Given the description of an element on the screen output the (x, y) to click on. 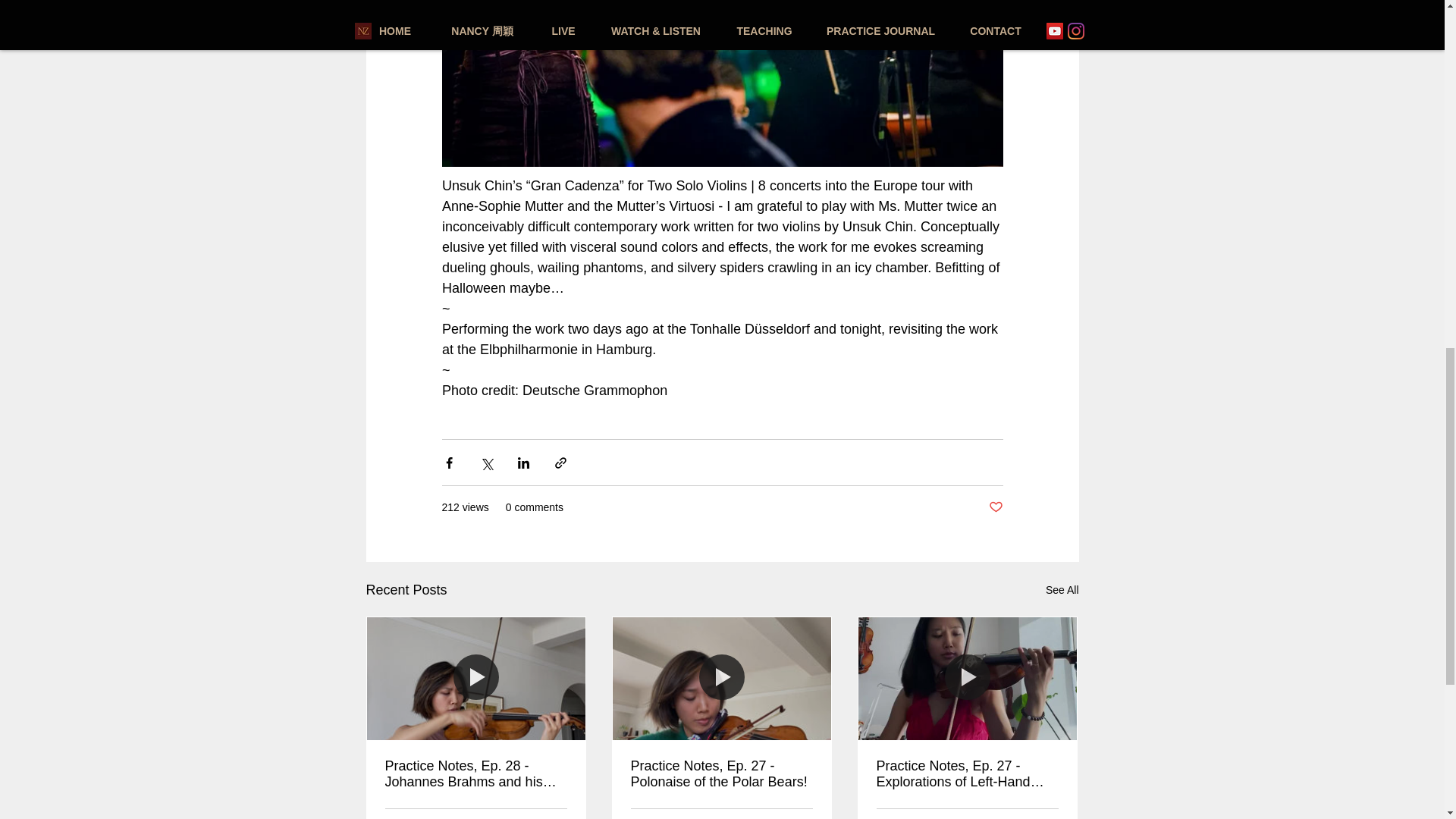
Practice Notes, Ep. 27 - Polonaise of the Polar Bears! (721, 774)
See All (1061, 590)
Post not marked as liked (995, 507)
Practice Notes, Ep. 27 - Explorations of Left-Hand Pizzicato (967, 774)
